Given the description of an element on the screen output the (x, y) to click on. 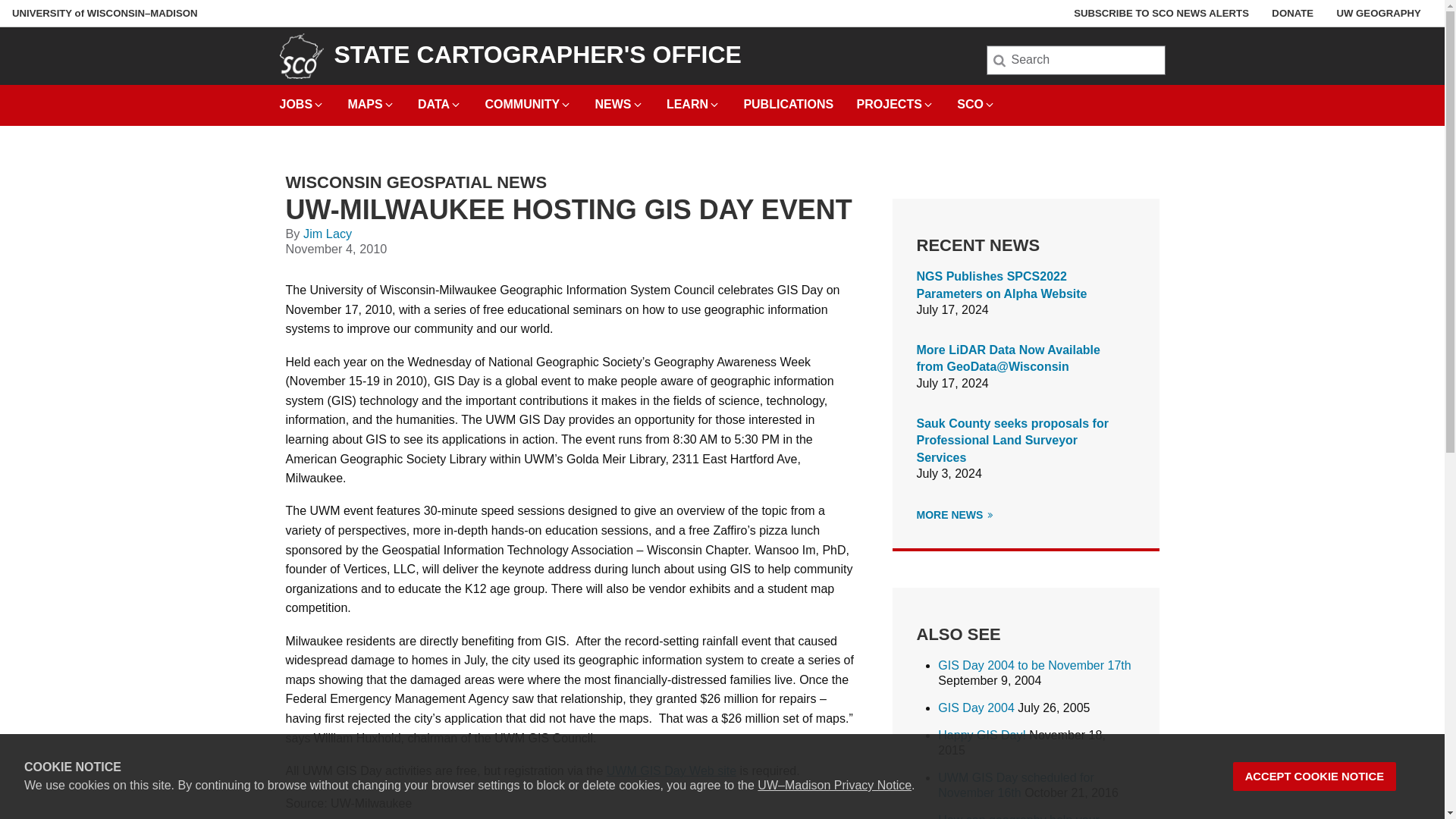
MAPS EXPAND (370, 100)
EXPAND (318, 104)
EXPAND (713, 104)
EXPAND (455, 104)
NEWS EXPAND (619, 100)
EXPAND (565, 104)
EXPAND (927, 104)
EXPAND (989, 104)
STATE CARTOGRAPHER'S OFFICE (537, 53)
EXPAND (637, 104)
EXPAND (388, 104)
Skip to main content (3, 3)
ACCEPT COOKIE NOTICE (1314, 776)
MORE (989, 514)
JOBS EXPAND (301, 100)
